Given the description of an element on the screen output the (x, y) to click on. 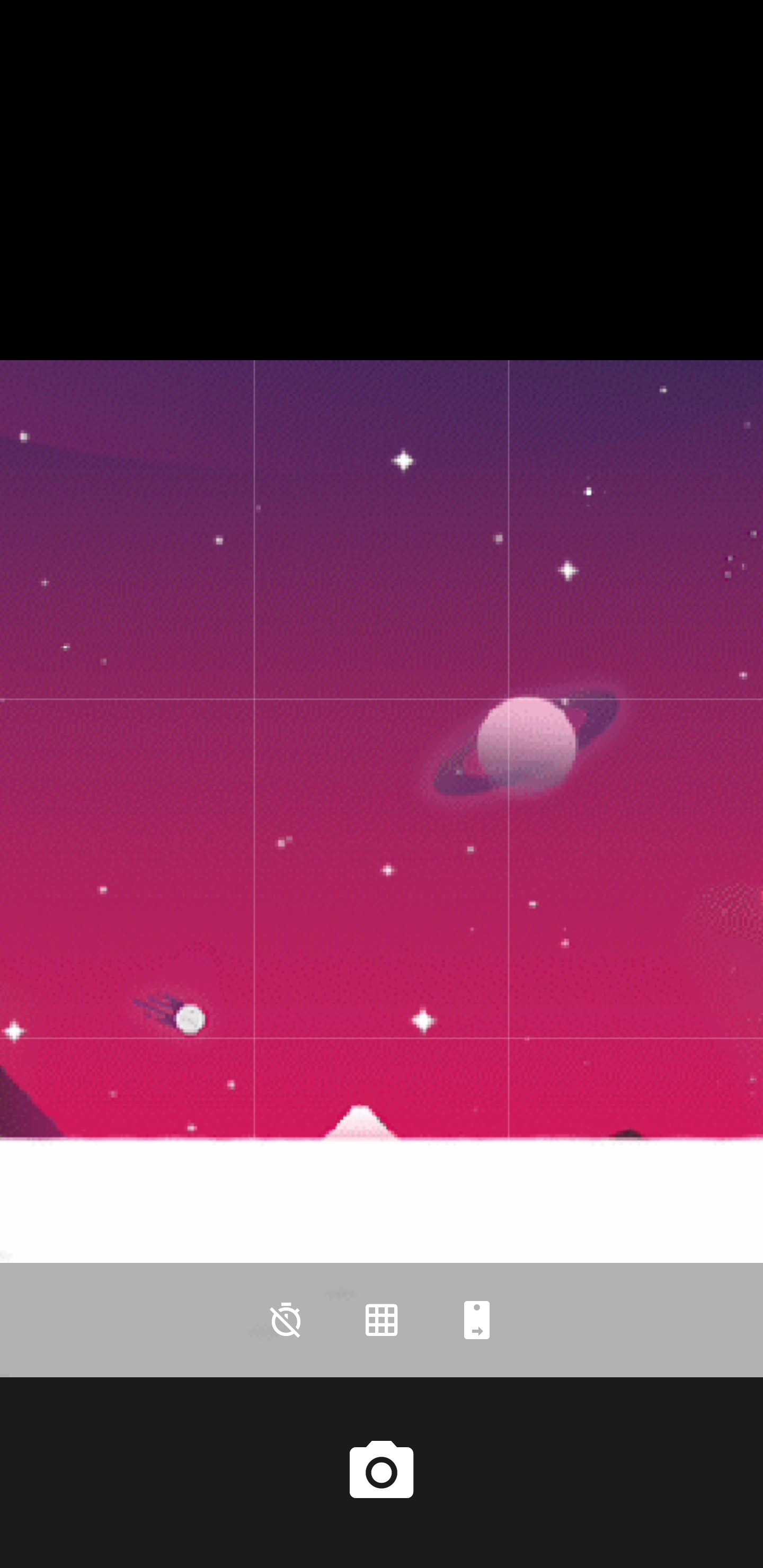
Countdown timer is off (285, 1319)
Grid lines on (381, 1319)
Back camera (476, 1319)
Shutter (381, 1472)
